Given the description of an element on the screen output the (x, y) to click on. 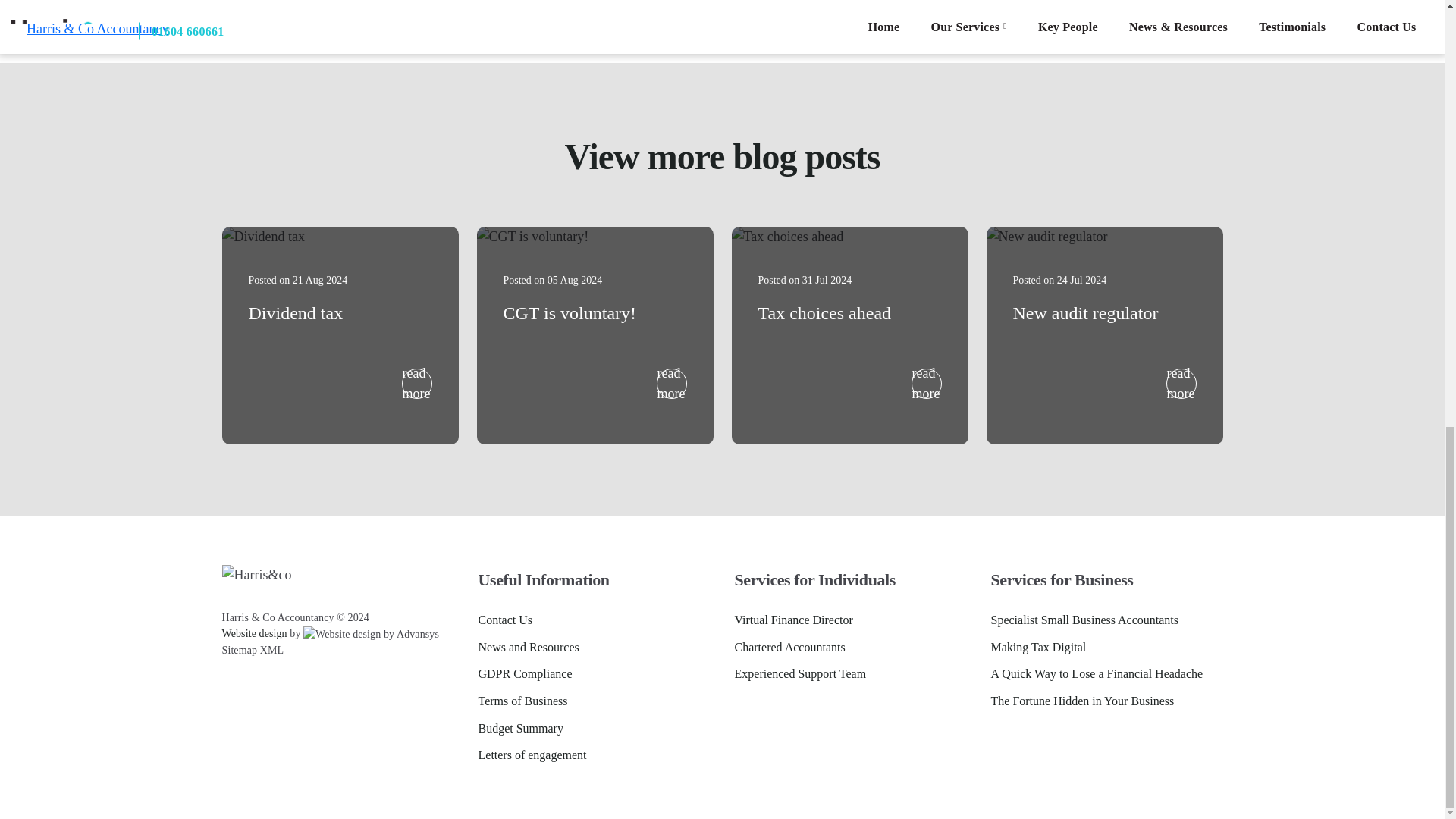
read more (416, 383)
Contact Us (504, 619)
read more (1181, 383)
Website design (253, 633)
Terms of Business (522, 701)
Sitemap XML (252, 650)
GDPR Compliance (524, 674)
Website design by Advansys (253, 633)
read more (926, 383)
News and Resources (527, 647)
